Given the description of an element on the screen output the (x, y) to click on. 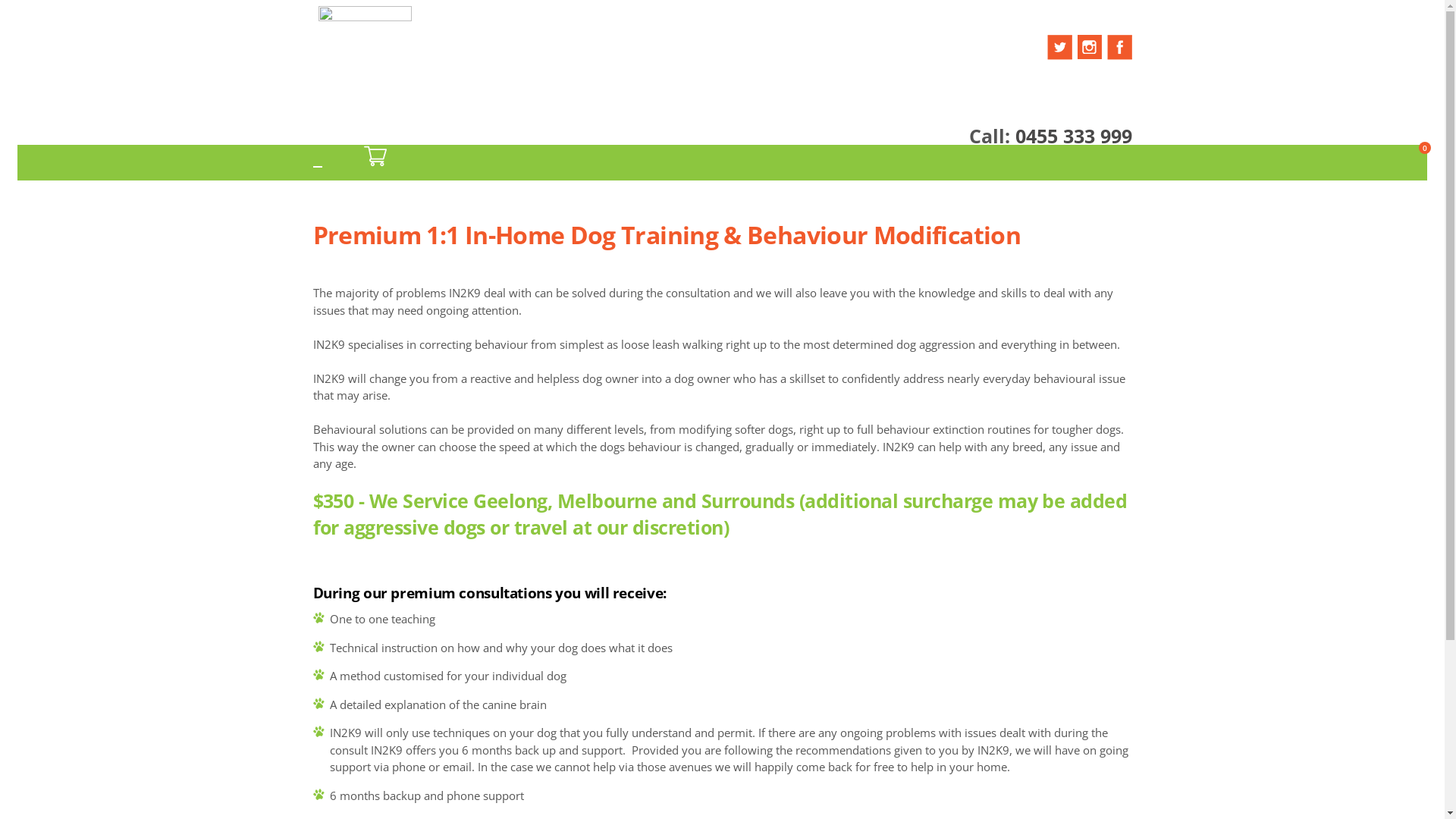
0 Element type: text (375, 155)
Toggle navigation Element type: text (415, 18)
Toggle navigation Element type: text (316, 166)
0455 333 999 Element type: text (1072, 135)
